Given the description of an element on the screen output the (x, y) to click on. 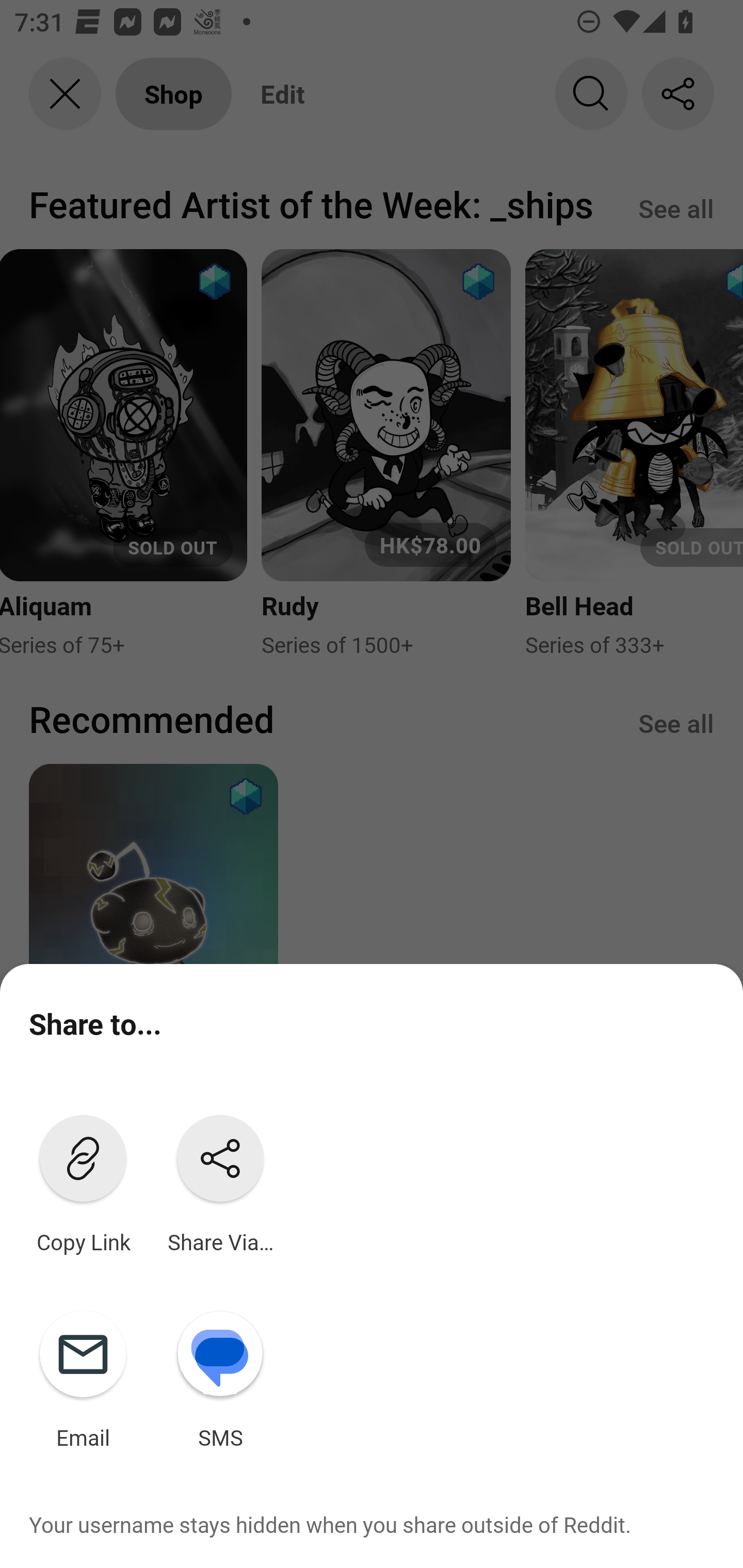
Copy Link (82, 1179)
Share Via… (220, 1179)
Email (82, 1375)
SMS (220, 1375)
